Given the description of an element on the screen output the (x, y) to click on. 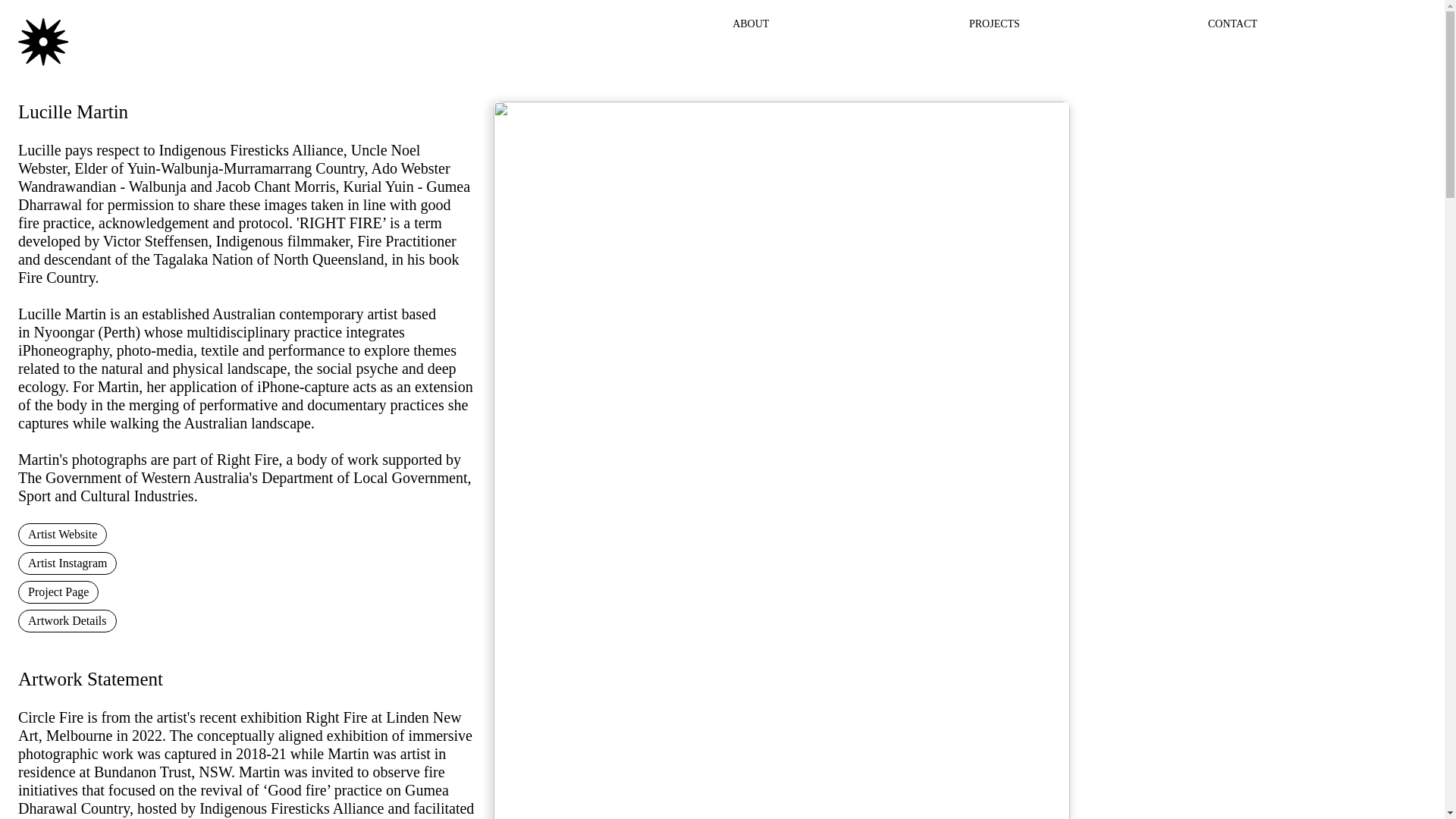
PROJECTS (994, 23)
CONTACT (1232, 23)
Artwork Details (66, 620)
ABOUT (750, 23)
Project Page (58, 591)
Artist Instagram (66, 563)
Artist Website (61, 534)
